Given the description of an element on the screen output the (x, y) to click on. 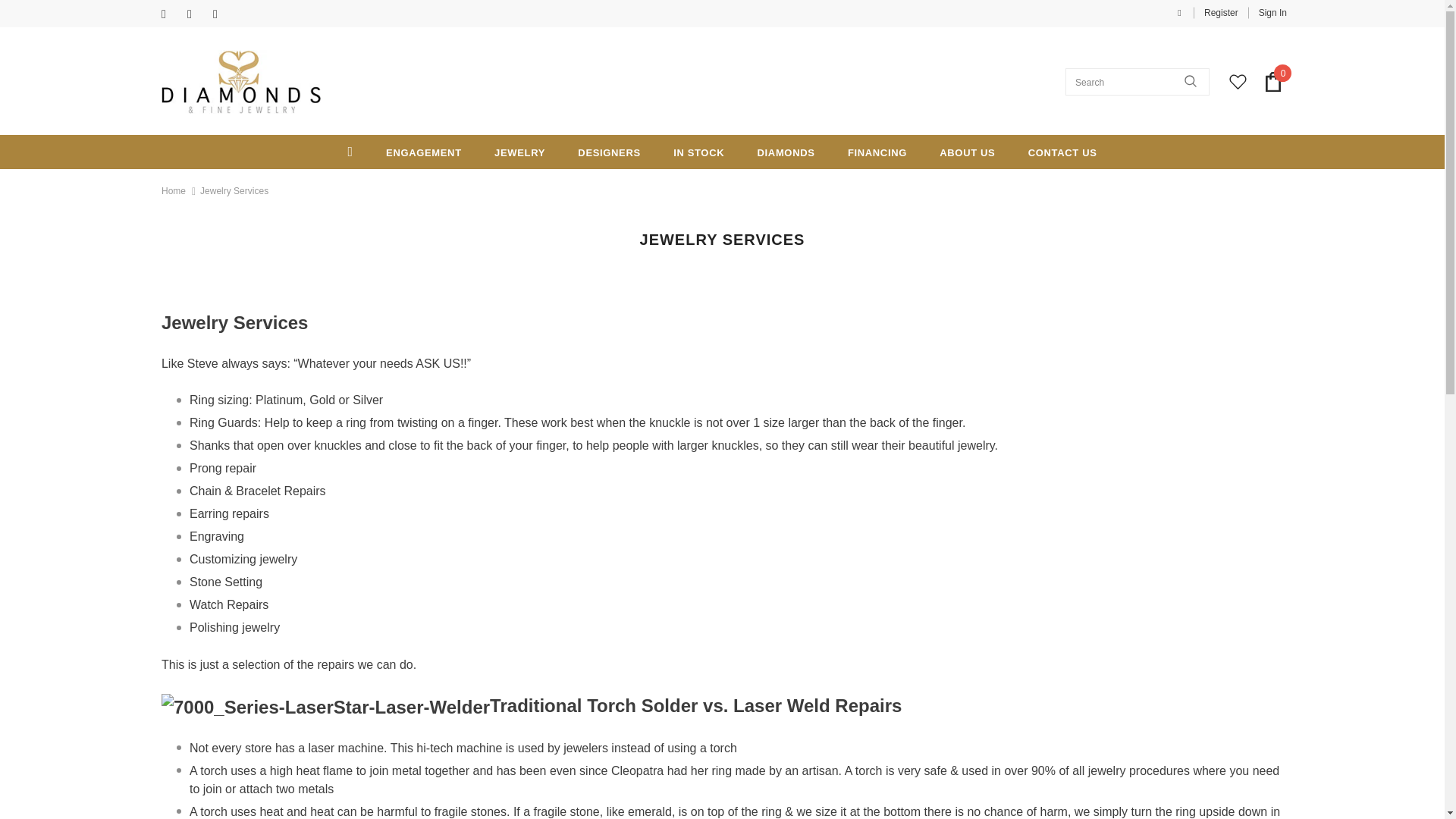
Instagram (221, 14)
Twitter (196, 14)
Register (1221, 12)
Sign In (1267, 12)
Facebook (170, 14)
